Given the description of an element on the screen output the (x, y) to click on. 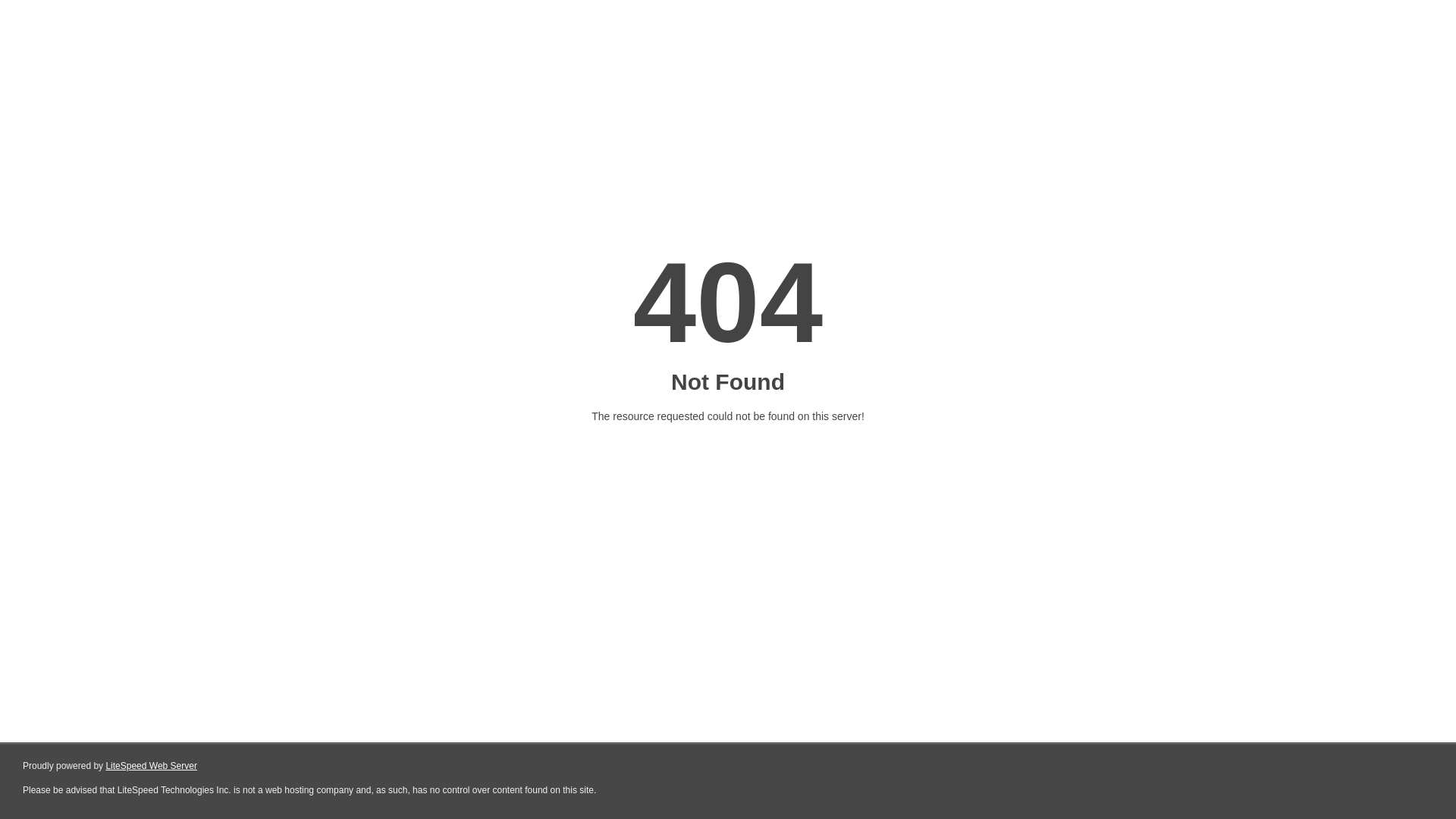
LiteSpeed Web Server Element type: text (151, 765)
